Given the description of an element on the screen output the (x, y) to click on. 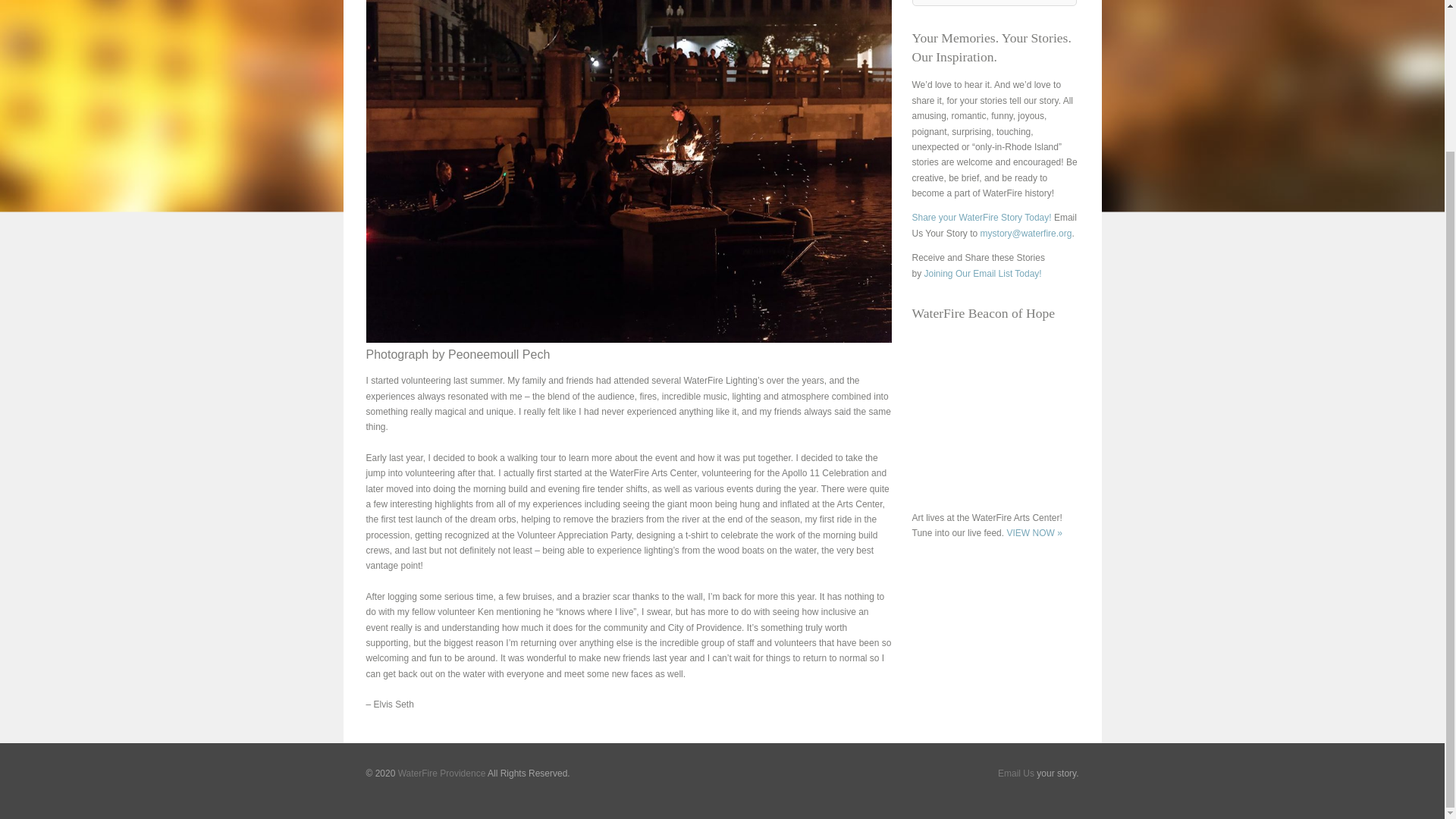
Share your WaterFire Story Today! (981, 217)
Joining Our Email List Today! (983, 273)
Email Us (1015, 773)
WaterFire Providence (441, 773)
Type and press enter to search. (993, 2)
